Given the description of an element on the screen output the (x, y) to click on. 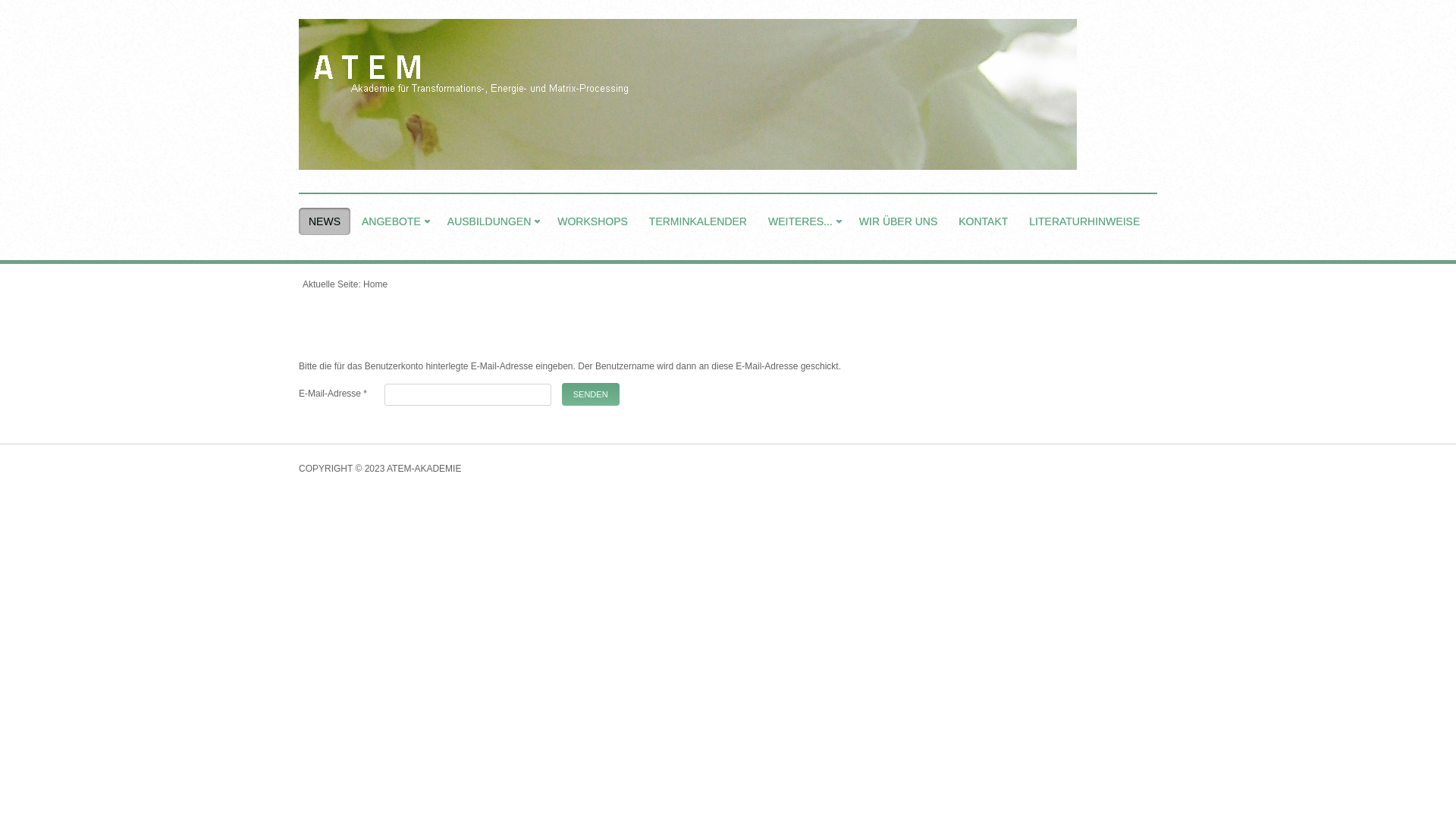
KONTAKT Element type: text (982, 221)
NEWS Element type: text (324, 221)
ANGEBOTE Element type: text (393, 221)
SENDEN Element type: text (590, 393)
AUSBILDUNGEN Element type: text (491, 221)
WEITERES... Element type: text (802, 221)
LITERATURHINWEISE Element type: text (1084, 221)
TERMINKALENDER Element type: text (697, 221)
WORKSHOPS Element type: text (592, 221)
